Given the description of an element on the screen output the (x, y) to click on. 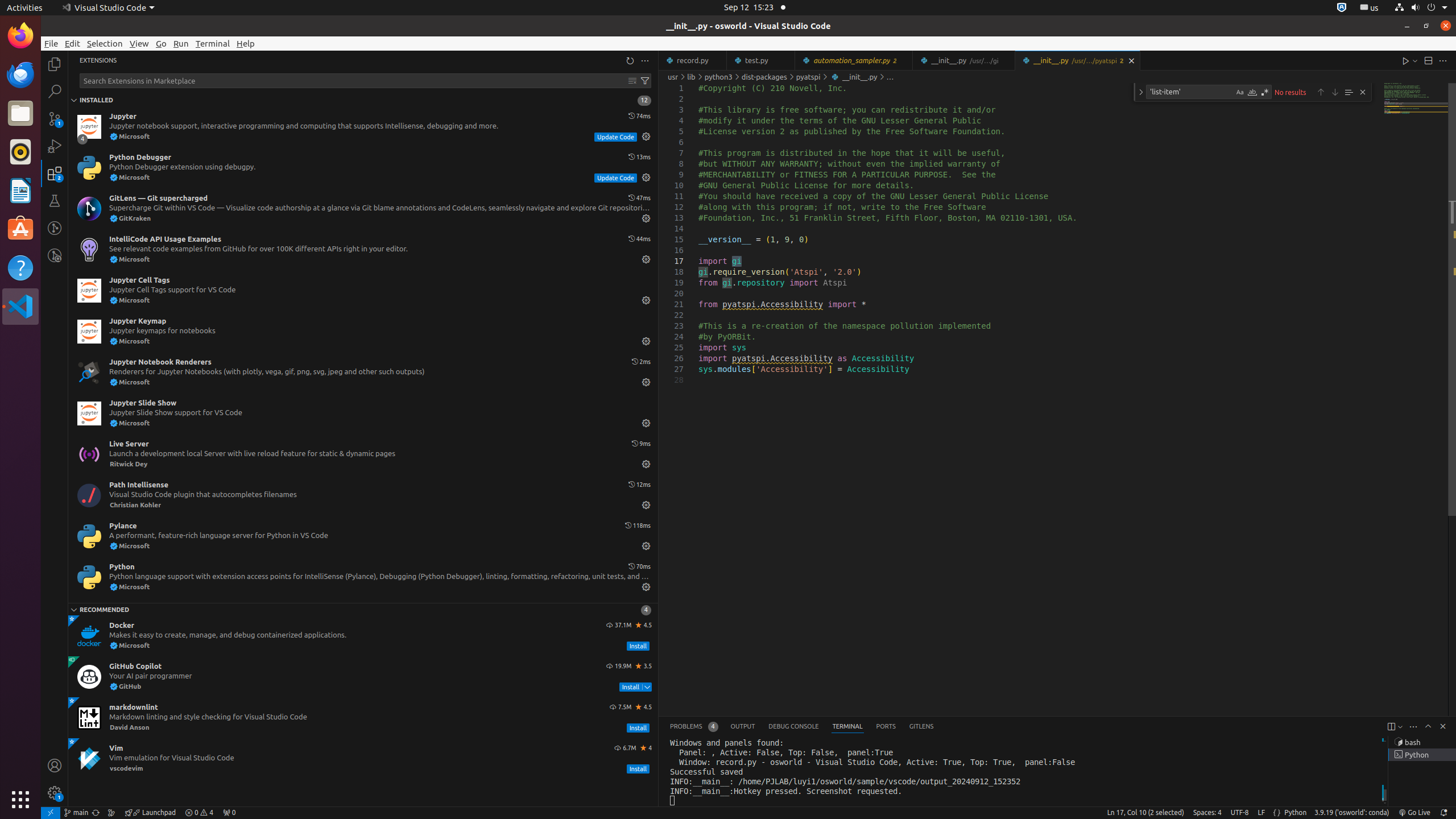
GitHub Copilot, 1.229.0, Verified Publisher GitHub, Your AI pair programmer , Rated 3.65 out of 5 stars by 1071 users Element type: list-item (363, 676)
Split Editor Right (Ctrl+\) [Alt] Split Editor Down Element type: push-button (1427, 60)
Firefox Web Browser Element type: push-button (20, 35)
Search (Ctrl+Shift+F) Element type: page-tab (54, 91)
Jupyter Keymap, 1.1.2, Verified Publisher Microsoft, Jupyter keymaps for notebooks , Rated 4.00 out of 5 stars by 3 users Element type: list-item (363, 331)
